Given the description of an element on the screen output the (x, y) to click on. 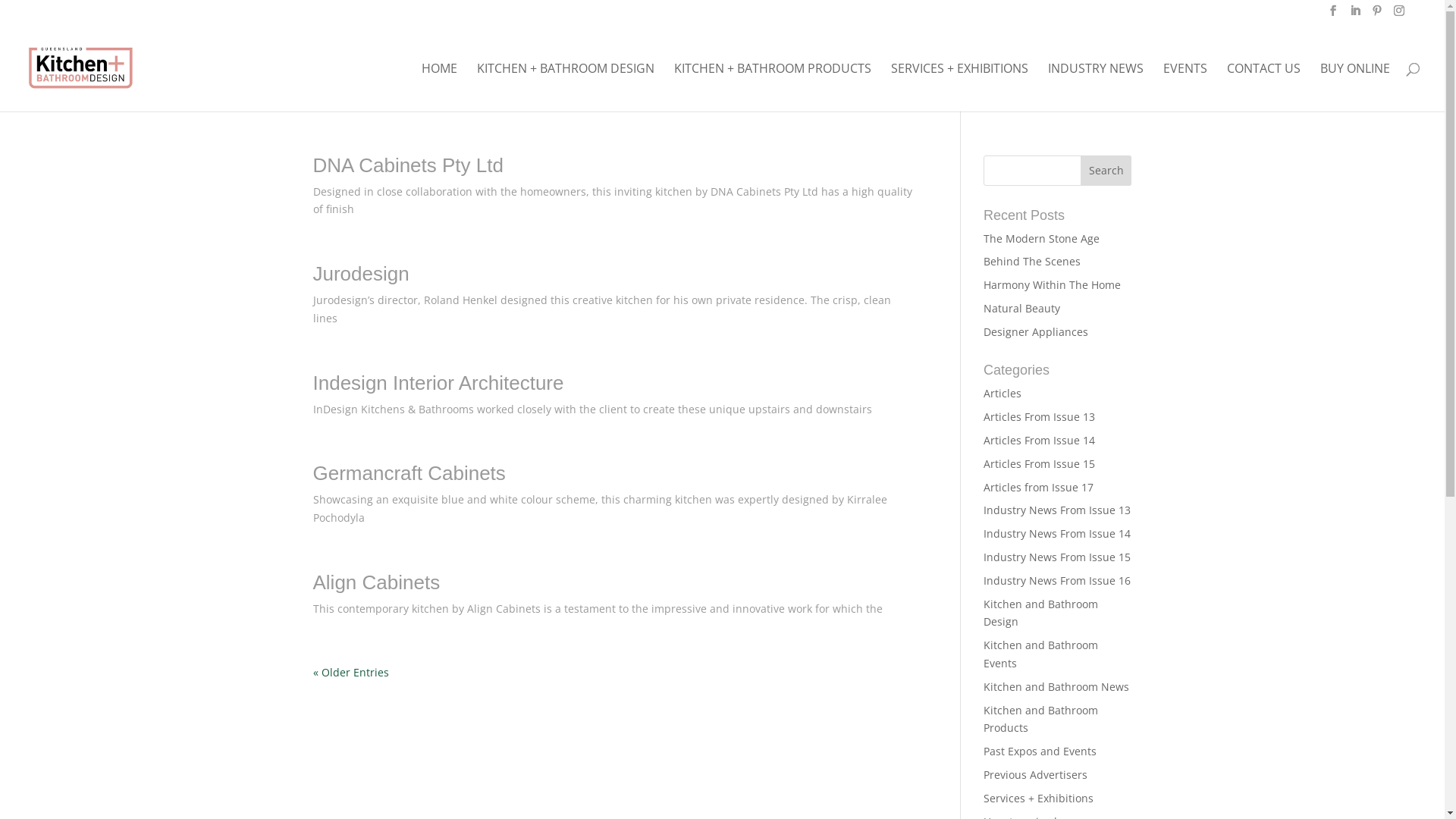
Indesign Interior Architecture Element type: text (437, 382)
Articles from Issue 17 Element type: text (1038, 487)
Kitchen and Bathroom Design Element type: text (1040, 612)
BUY ONLINE Element type: text (1355, 86)
KITCHEN + BATHROOM PRODUCTS Element type: text (772, 86)
Previous Advertisers Element type: text (1035, 774)
Articles Element type: text (1002, 392)
Articles From Issue 15 Element type: text (1039, 463)
Services + Exhibitions Element type: text (1038, 797)
CONTACT US Element type: text (1263, 86)
Industry News From Issue 15 Element type: text (1056, 556)
Natural Beauty Element type: text (1021, 308)
Germancraft Cabinets Element type: text (408, 472)
Behind The Scenes Element type: text (1031, 261)
Jurodesign Element type: text (360, 273)
Kitchen and Bathroom News Element type: text (1056, 686)
Industry News From Issue 16 Element type: text (1056, 580)
Articles From Issue 13 Element type: text (1039, 416)
Designer Appliances Element type: text (1035, 331)
Align Cabinets Element type: text (375, 582)
The Modern Stone Age Element type: text (1041, 237)
Industry News From Issue 14 Element type: text (1056, 533)
Kitchen and Bathroom Products Element type: text (1040, 718)
Harmony Within The Home Element type: text (1051, 284)
Kitchen and Bathroom Events Element type: text (1040, 653)
INDUSTRY NEWS Element type: text (1095, 86)
KITCHEN + BATHROOM DESIGN Element type: text (565, 86)
DNA Cabinets Pty Ltd Element type: text (407, 164)
Search Element type: text (1106, 169)
EVENTS Element type: text (1185, 86)
SERVICES + EXHIBITIONS Element type: text (959, 86)
Past Expos and Events Element type: text (1039, 750)
HOME Element type: text (439, 86)
Industry News From Issue 13 Element type: text (1056, 509)
Articles From Issue 14 Element type: text (1039, 440)
